Given the description of an element on the screen output the (x, y) to click on. 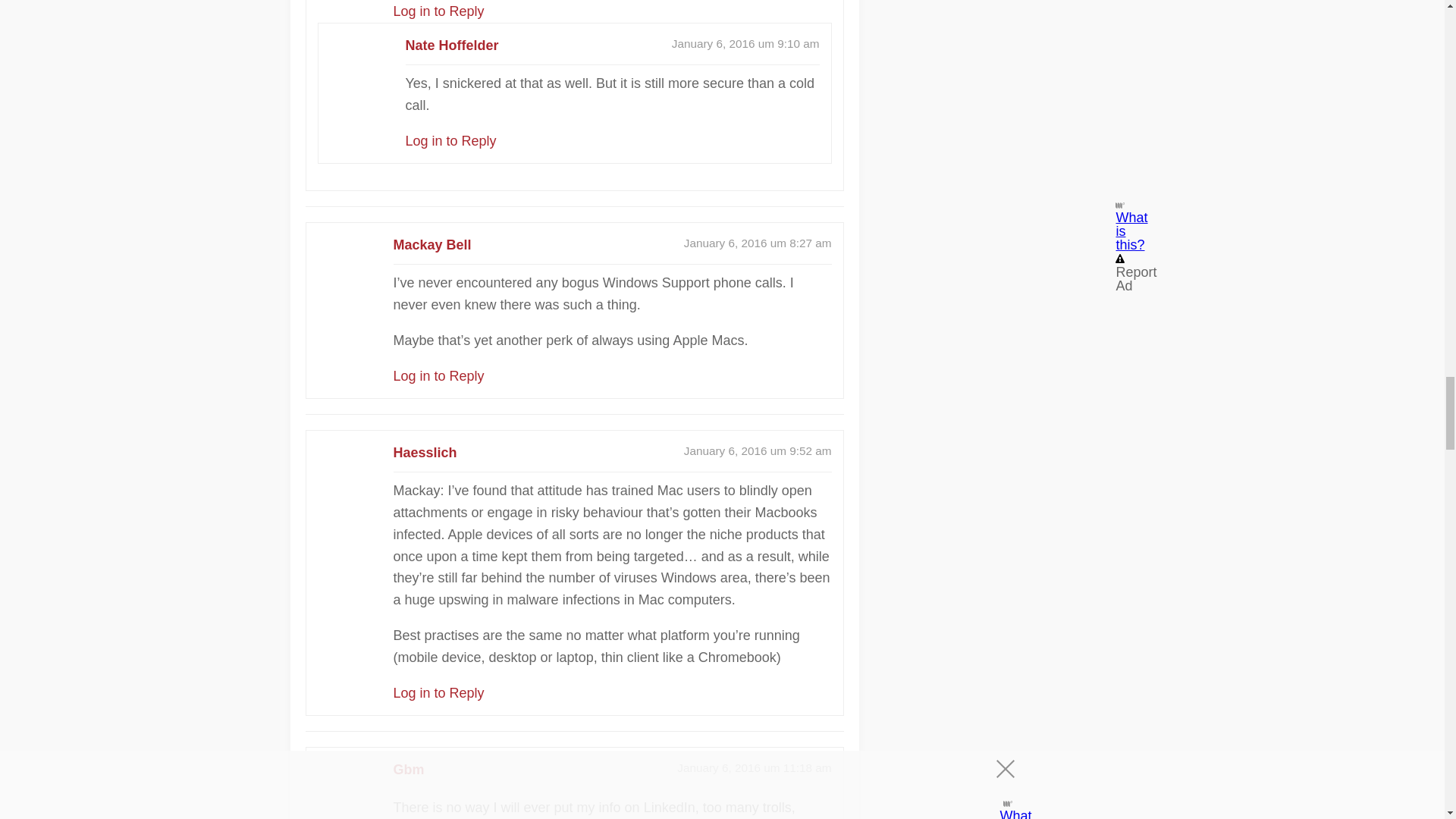
Log in to Reply (438, 693)
Log in to Reply (450, 140)
Log in to Reply (438, 11)
Log in to Reply (438, 376)
